Given the description of an element on the screen output the (x, y) to click on. 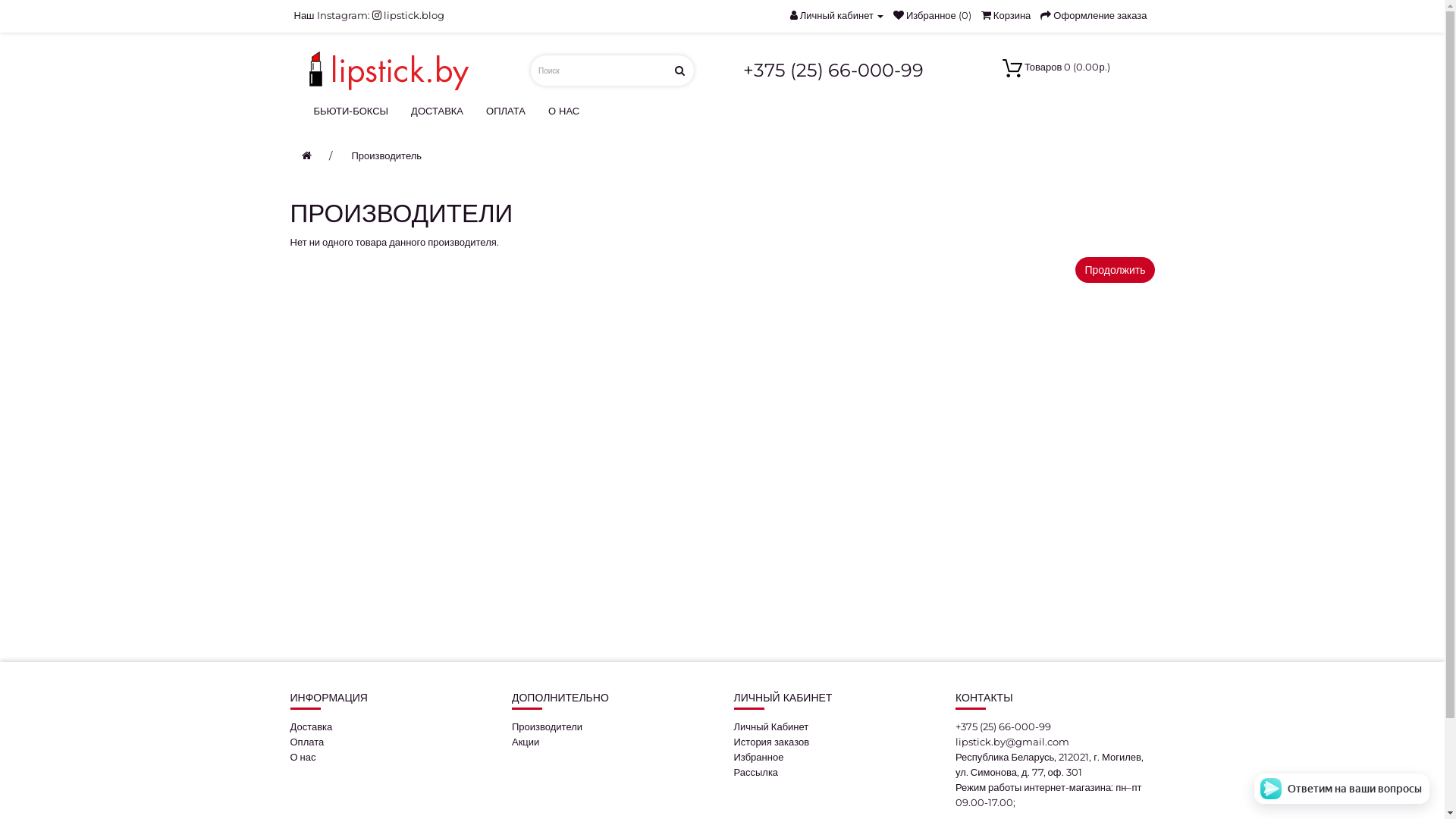
+375 (25) 66-000-99 Element type: text (833, 70)
lipstick.by@gmail.com Element type: text (1012, 741)
+375 (25) 66-000-99 Element type: text (1003, 726)
lipstick.blog Element type: text (408, 15)
